Given the description of an element on the screen output the (x, y) to click on. 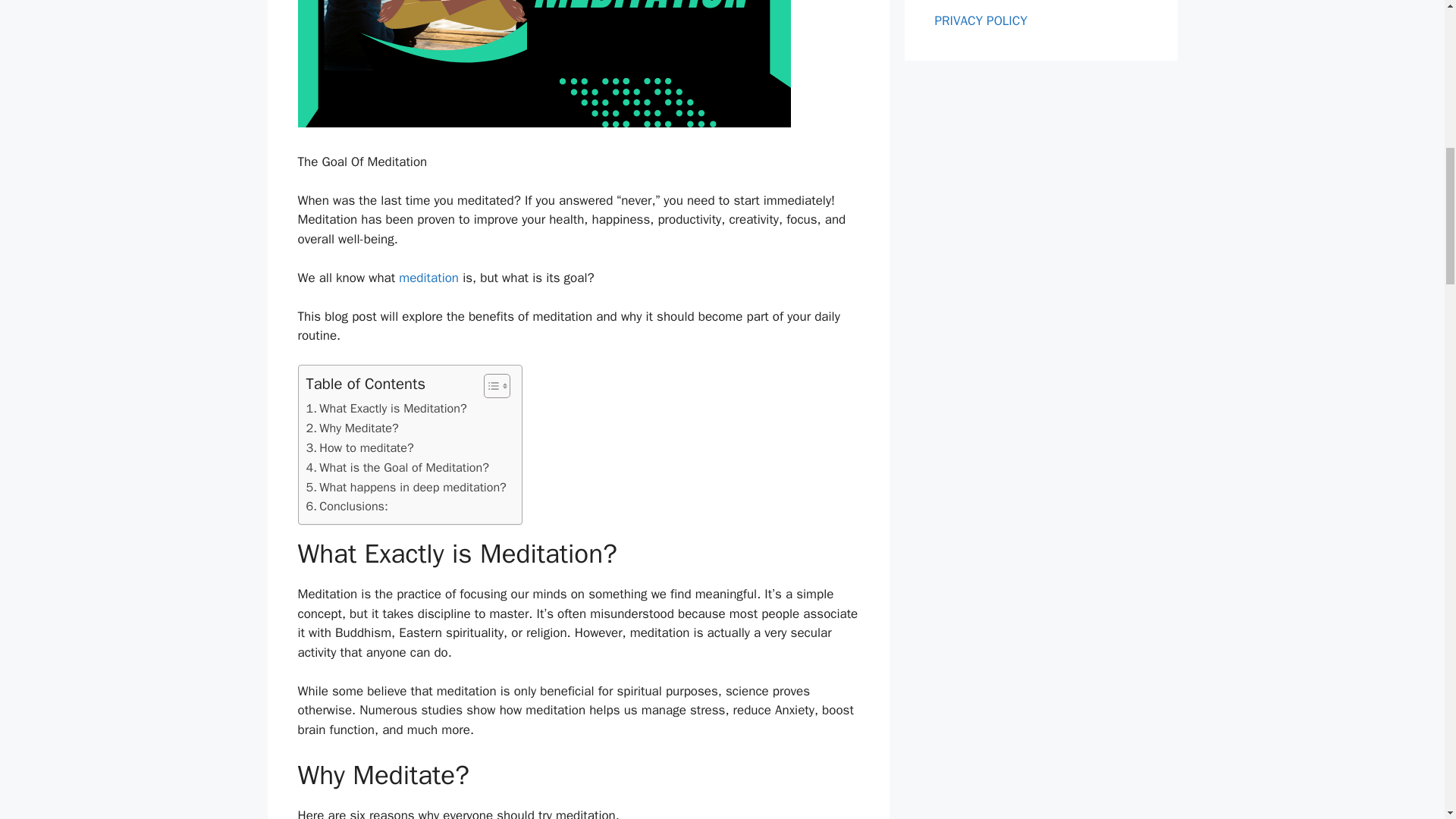
Conclusions: (346, 506)
meditation (428, 277)
Conclusions: (346, 506)
What is the Goal of Meditation? (397, 467)
Why Meditate? (351, 428)
What Exactly is Meditation? (386, 408)
Why Meditate? (351, 428)
How to meditate? (359, 447)
What happens in deep meditation? (405, 487)
What Exactly is Meditation? (386, 408)
